Given the description of an element on the screen output the (x, y) to click on. 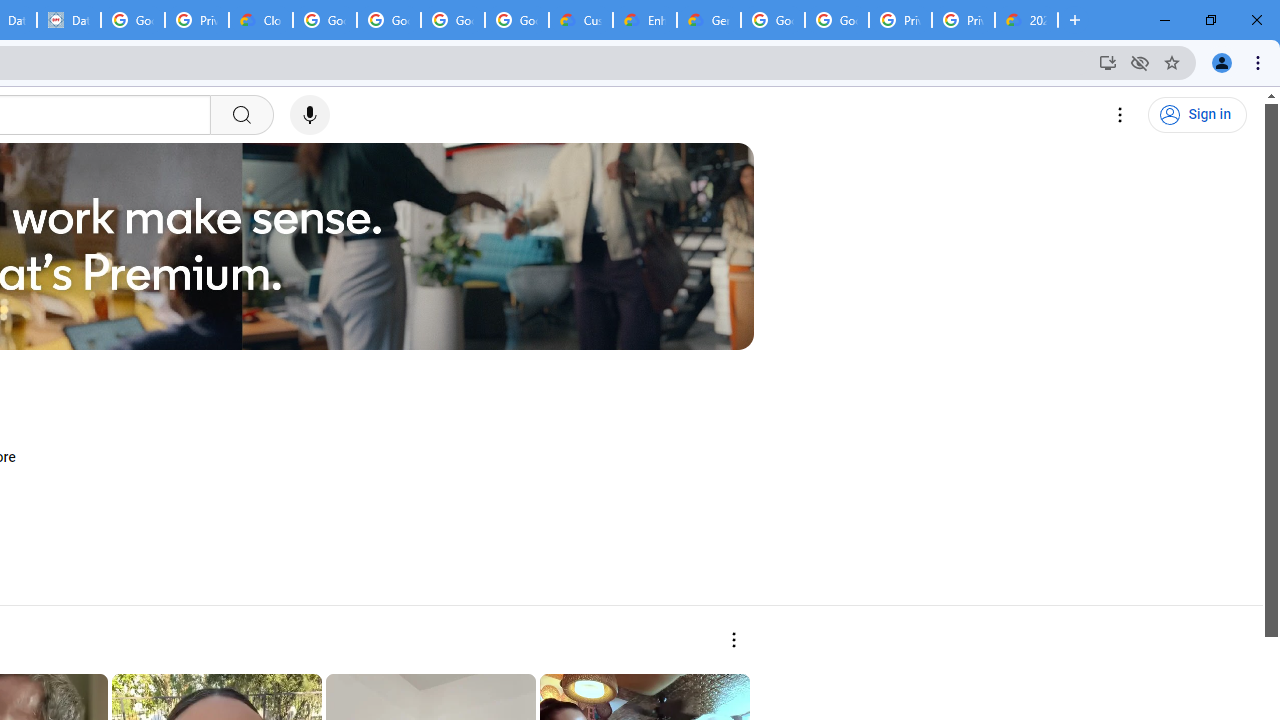
Settings (1119, 115)
Install YouTube (1107, 62)
Customer Care | Google Cloud (581, 20)
Google Cloud Platform (773, 20)
